Given the description of an element on the screen output the (x, y) to click on. 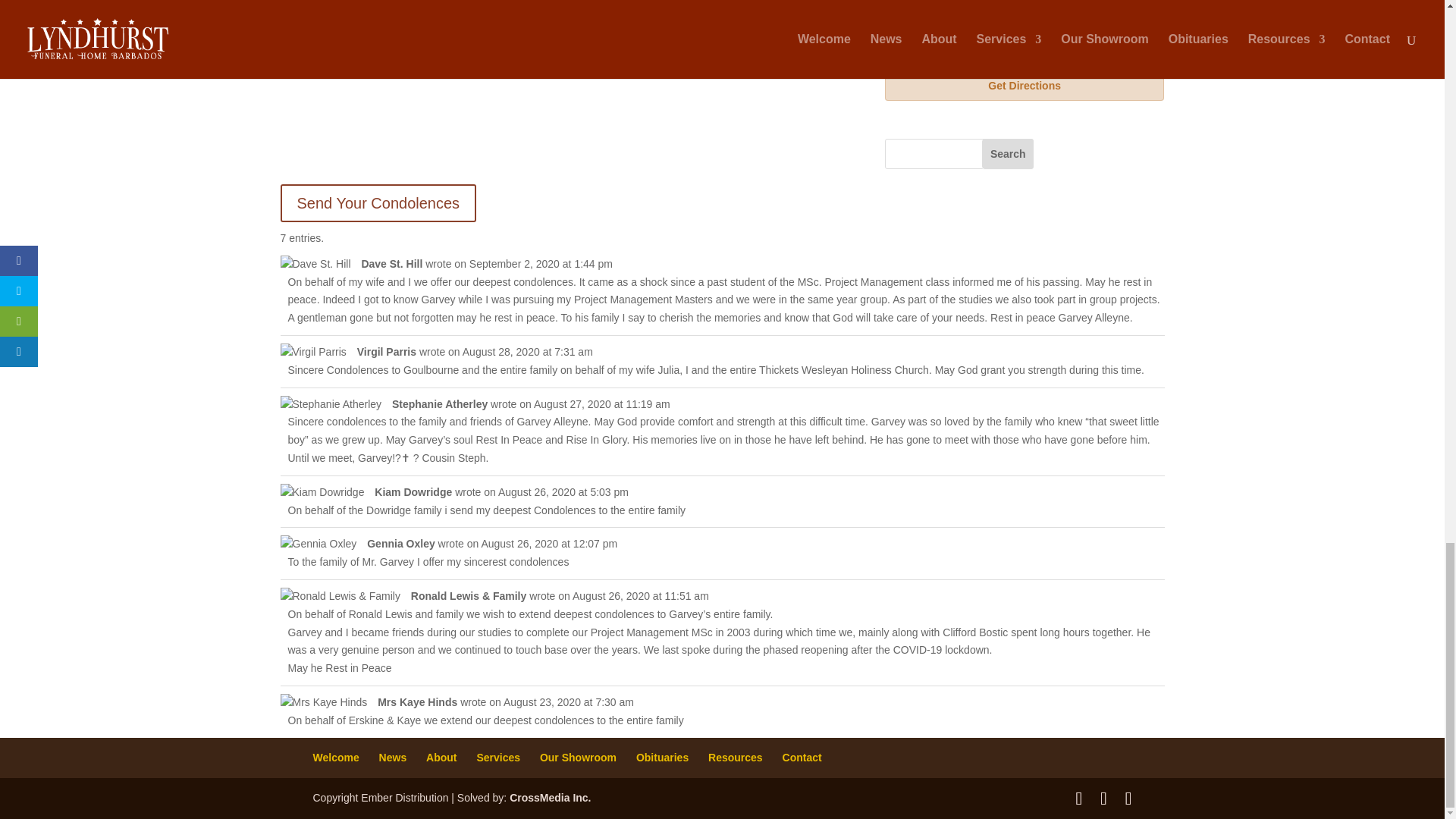
Get Directions (1024, 85)
Send Your Condolences (379, 202)
Search (1007, 153)
Get Directions (1024, 85)
Search (1007, 153)
